Given the description of an element on the screen output the (x, y) to click on. 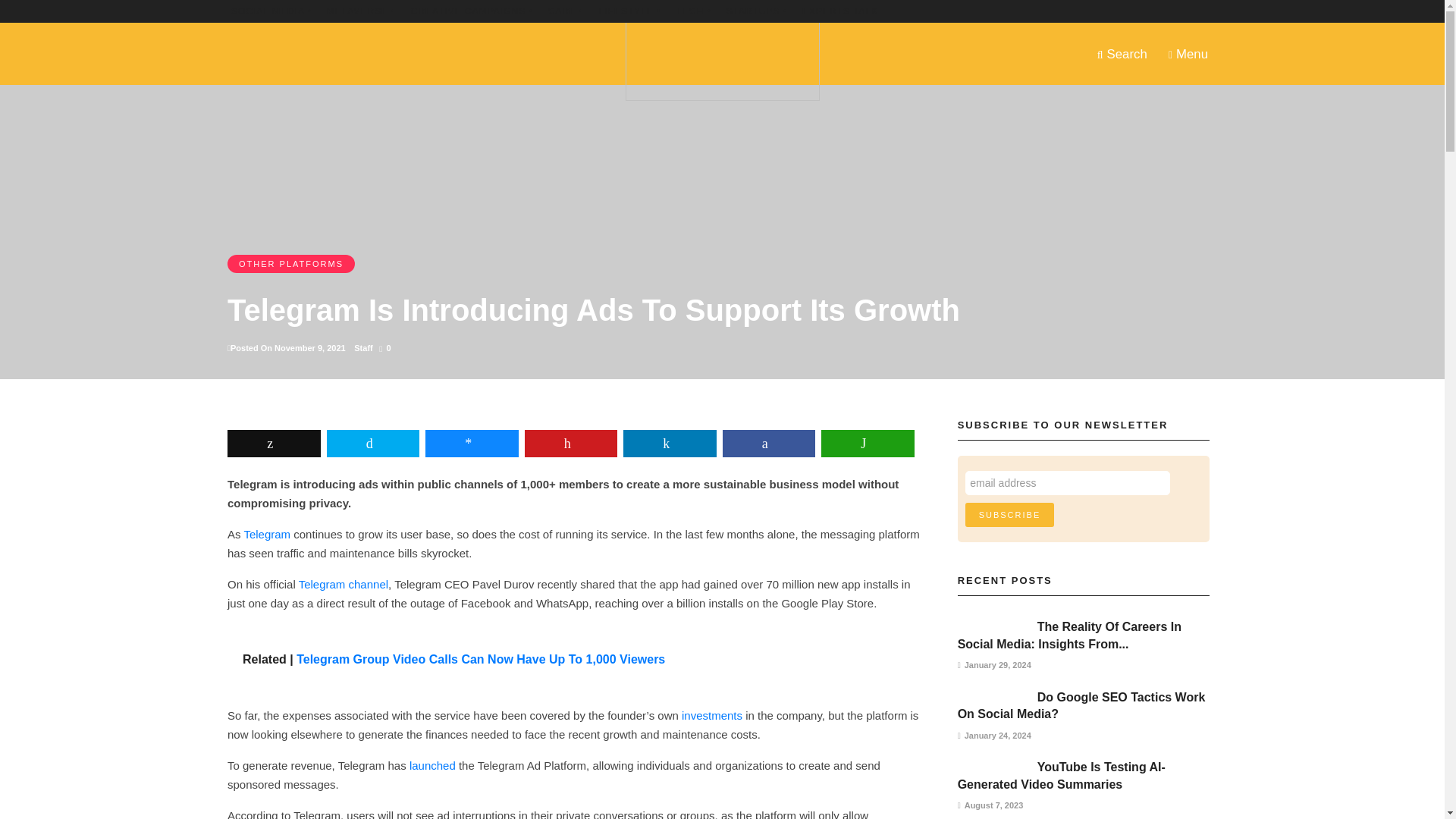
top-bar (629, 10)
top-bar (361, 10)
Share on - (372, 443)
top-bar (756, 10)
Share on - (768, 443)
Share on - (471, 443)
top-bar (471, 10)
Menu (1187, 53)
Search (1121, 53)
Share on - (669, 443)
